Given the description of an element on the screen output the (x, y) to click on. 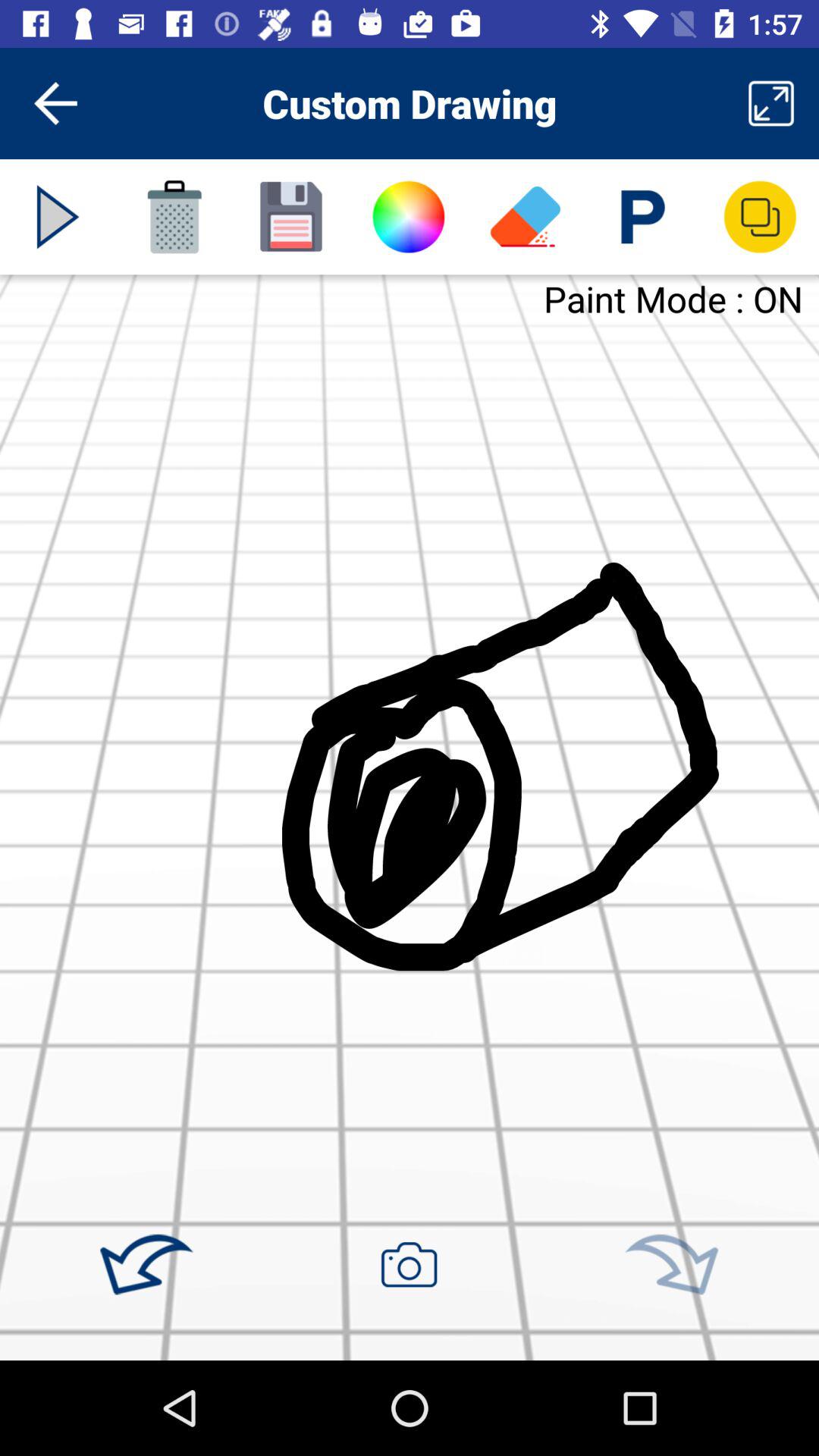
play the media (58, 216)
